Given the description of an element on the screen output the (x, y) to click on. 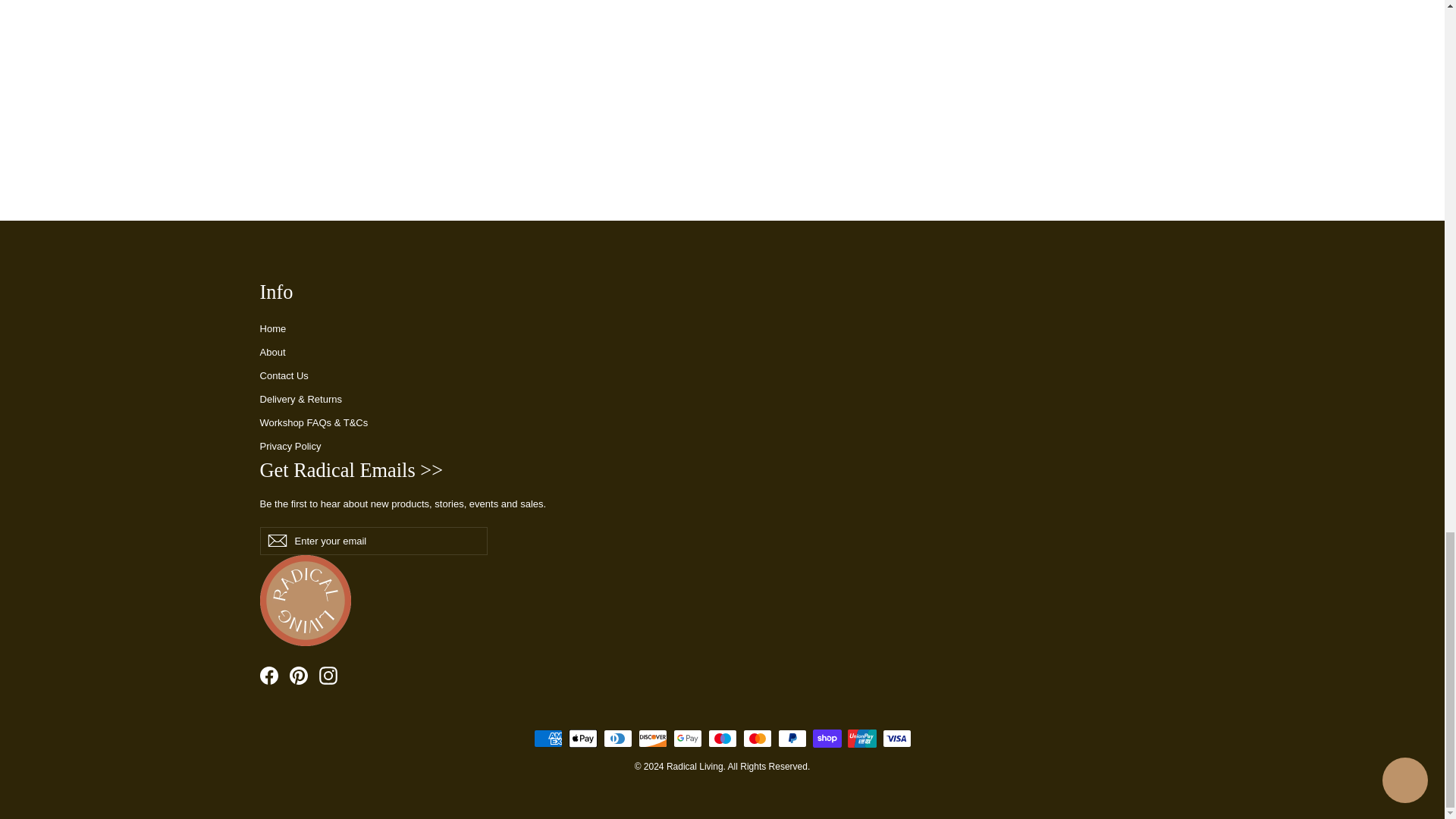
Radical Living on Pinterest (298, 675)
Radical Living on Instagram (327, 675)
Radical Living on Facebook (268, 675)
Apple Pay (582, 738)
American Express (548, 738)
